Given the description of an element on the screen output the (x, y) to click on. 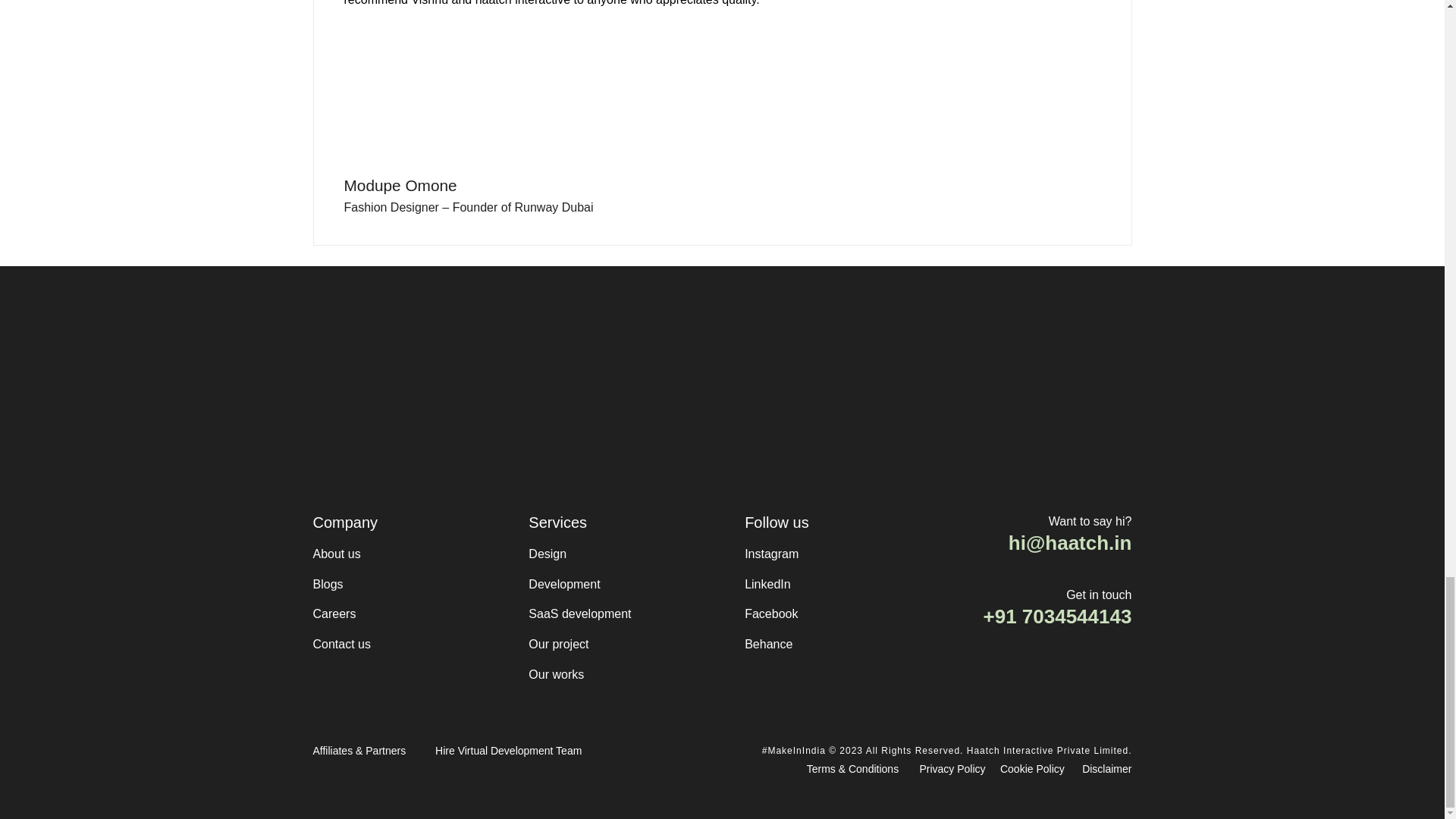
Development (563, 584)
Careers (334, 614)
Our Projects (558, 644)
SaaS development (579, 614)
Our works (555, 674)
About us (336, 554)
Contact us (341, 644)
Hire Virtual Development Team (507, 751)
Behance (768, 644)
Our SaaS Development (579, 614)
Contact us (341, 644)
Our Development Services (563, 584)
Haatch Careers (334, 614)
Privacy Policy (951, 769)
Our project (558, 644)
